Given the description of an element on the screen output the (x, y) to click on. 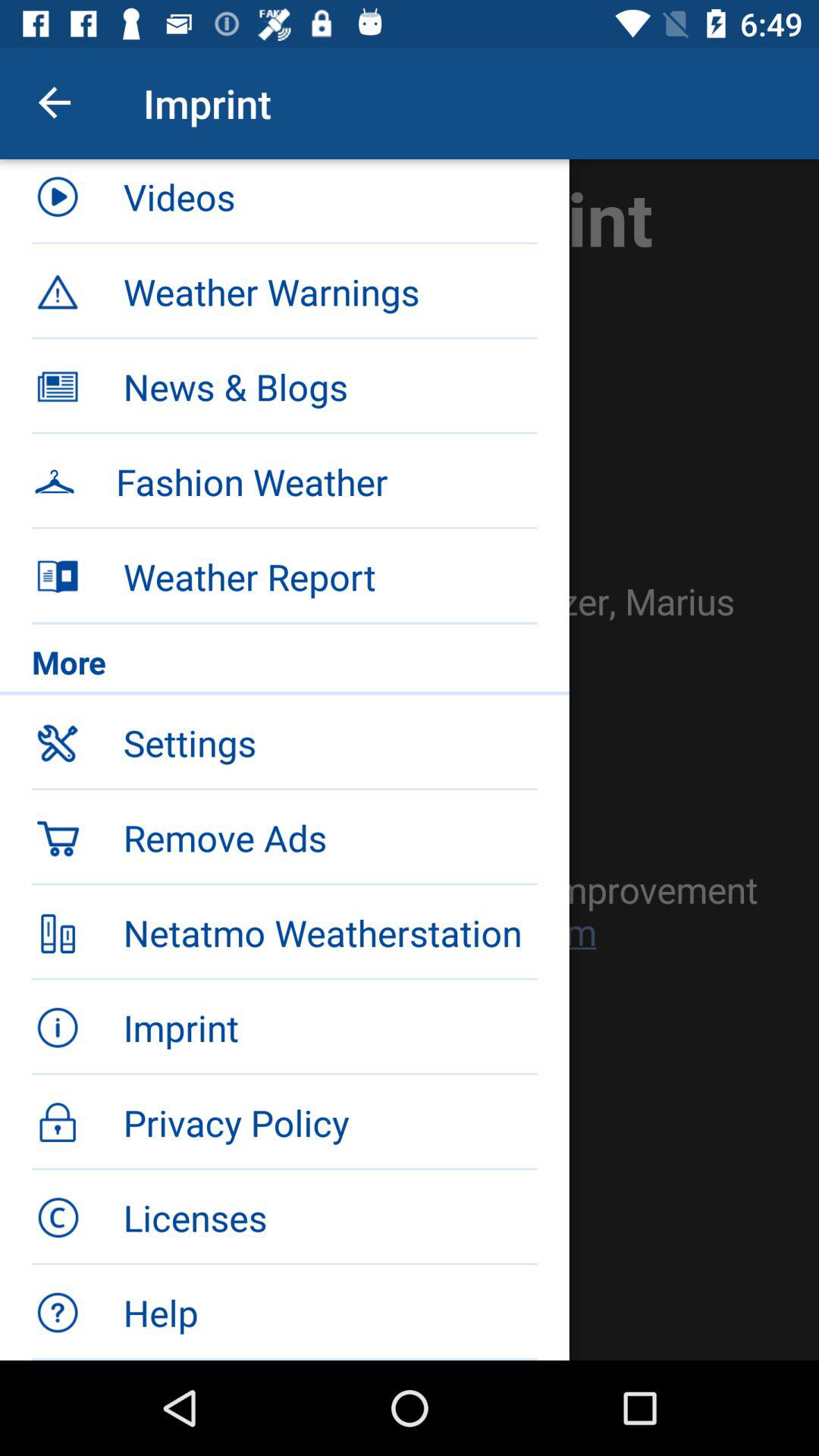
alerts of extreme weather (409, 759)
